Given the description of an element on the screen output the (x, y) to click on. 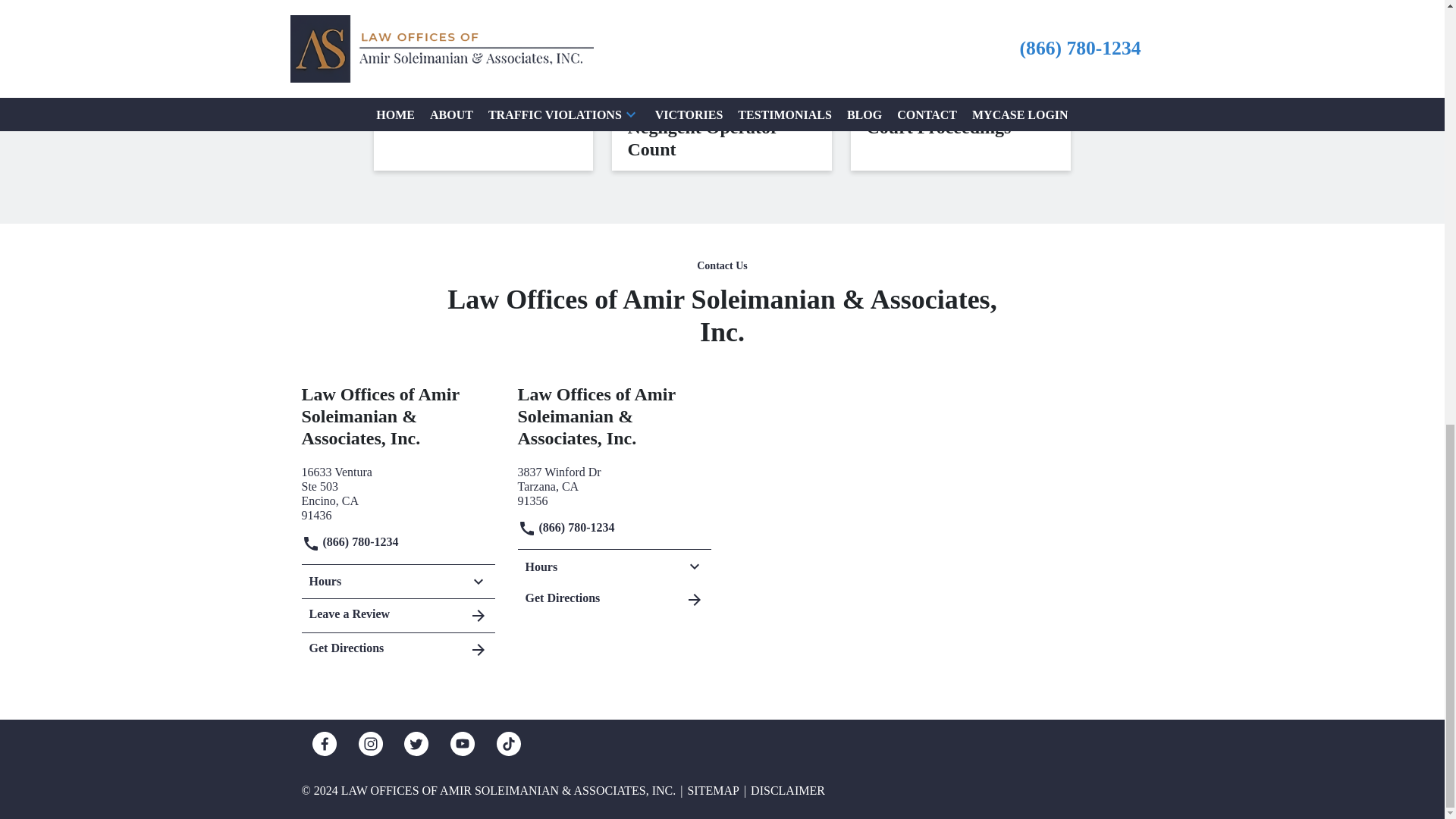
Get Directions (613, 484)
Leave a Review (398, 646)
Hours (398, 491)
